Given the description of an element on the screen output the (x, y) to click on. 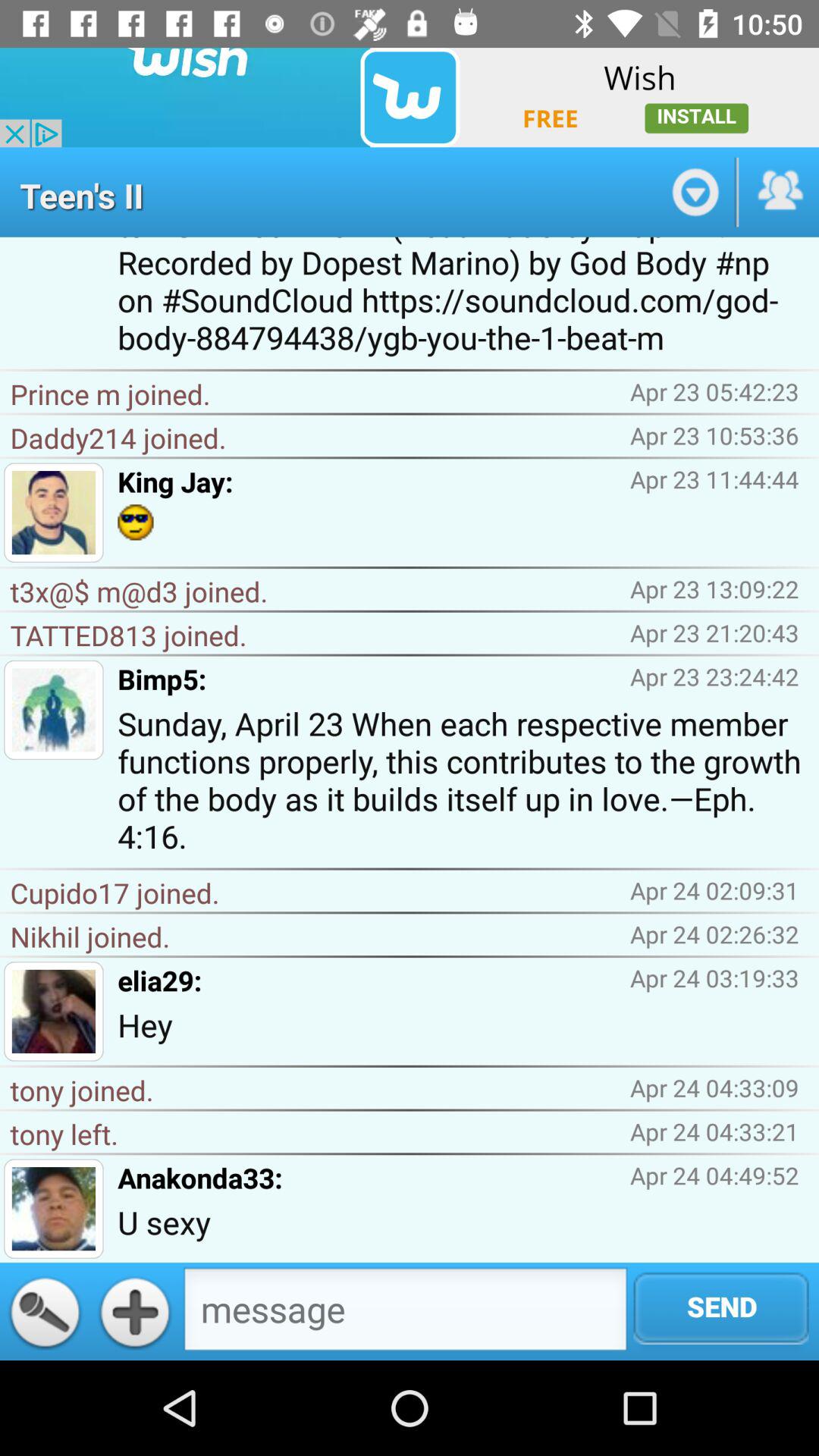
translate the word (44, 1311)
